Given the description of an element on the screen output the (x, y) to click on. 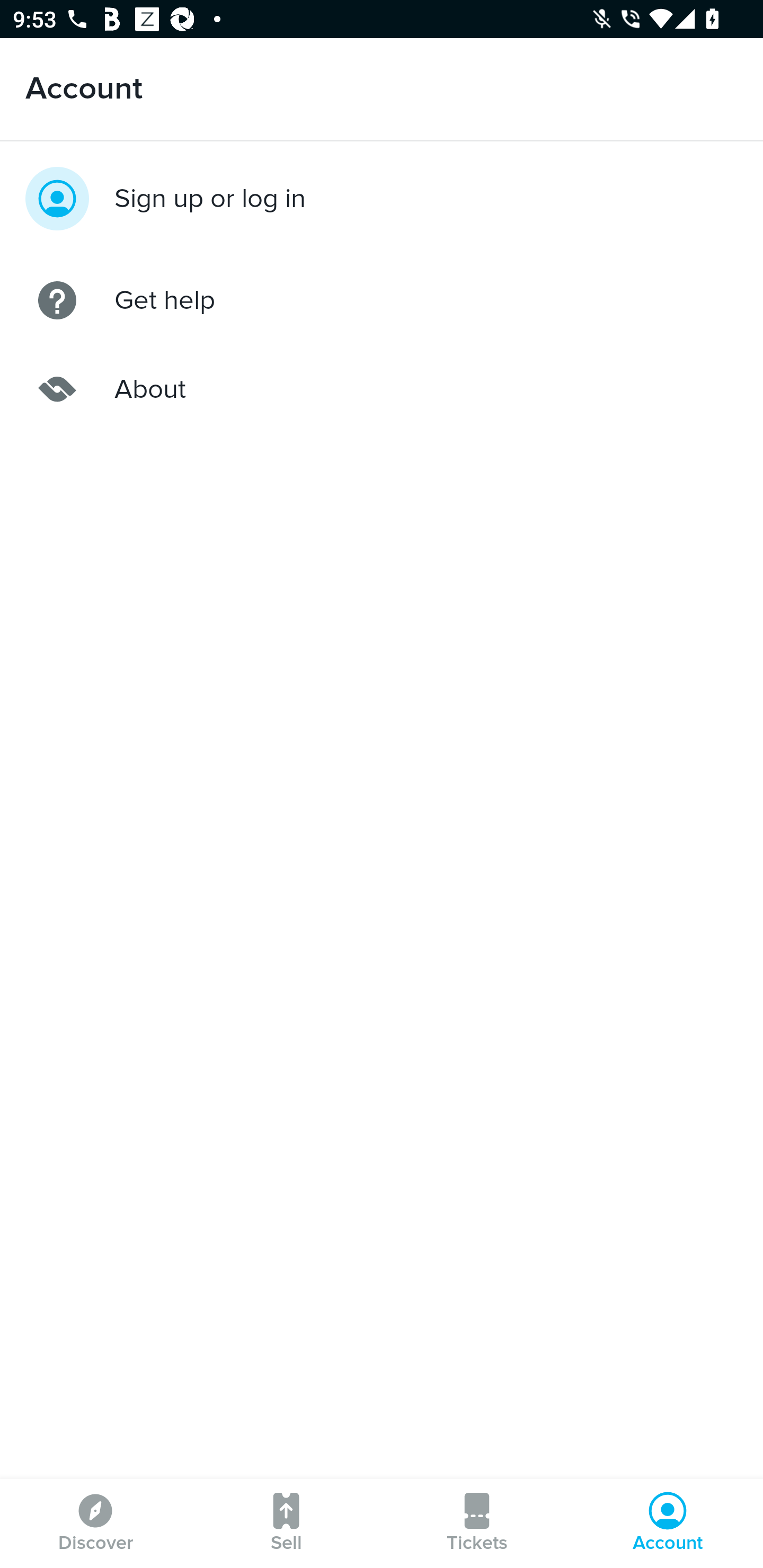
Sign up or log in (381, 198)
Get help (381, 299)
About (381, 389)
Discover (95, 1523)
Sell (285, 1523)
Tickets (476, 1523)
